Given the description of an element on the screen output the (x, y) to click on. 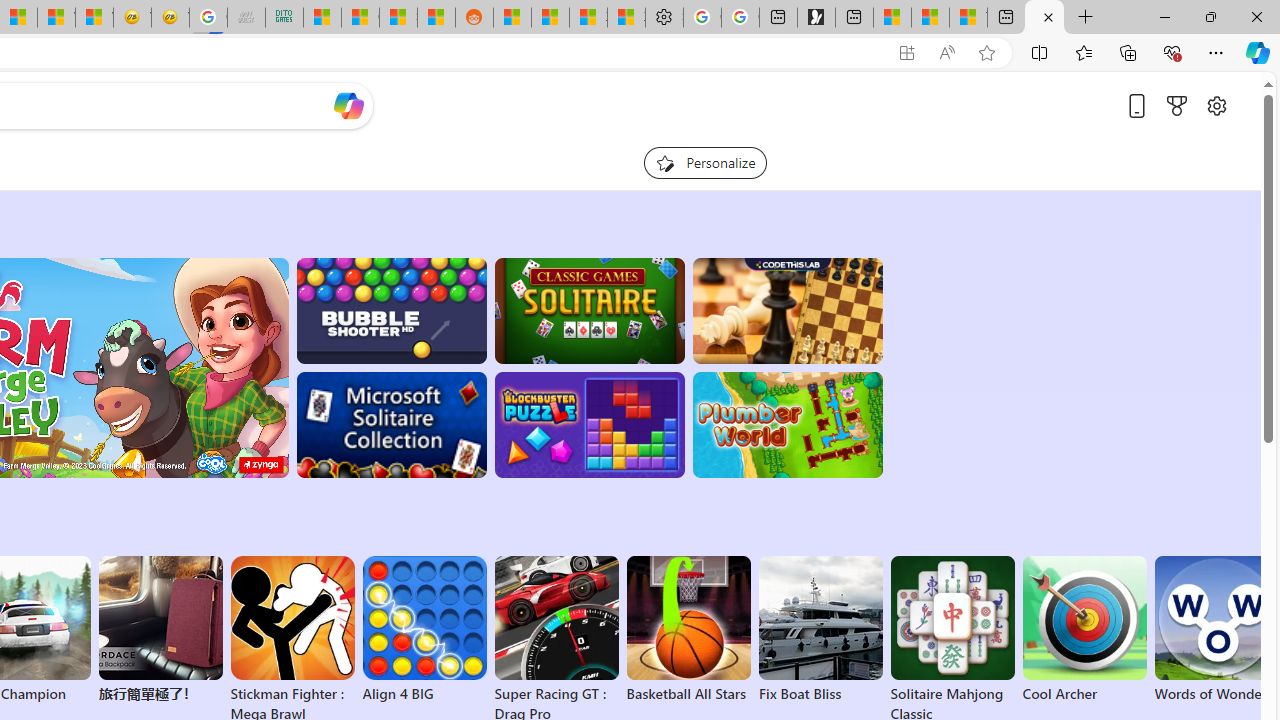
Align 4 BIG (424, 629)
Personalize your feed" (704, 162)
Words of Wonders (1216, 629)
